Given the description of an element on the screen output the (x, y) to click on. 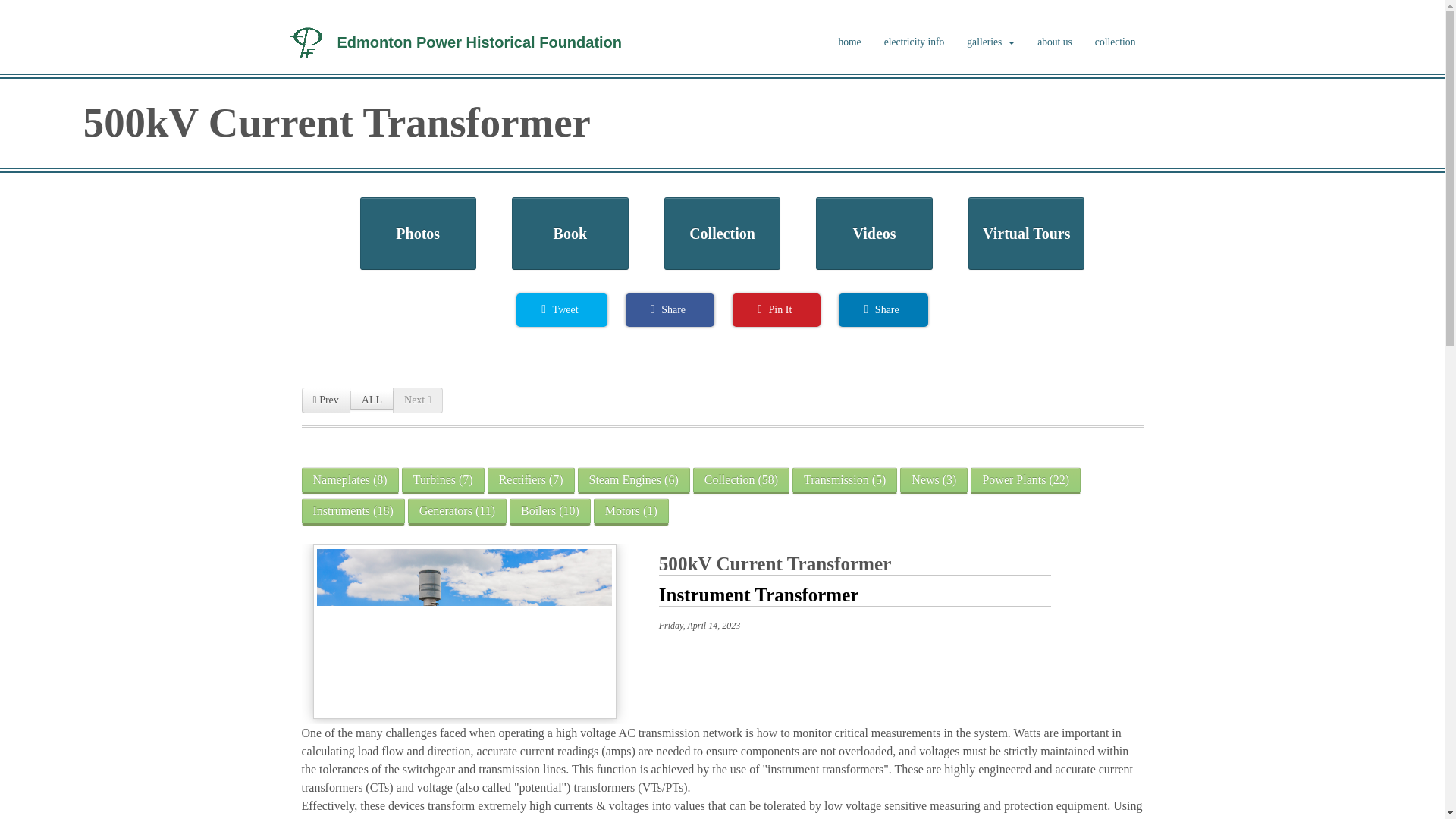
Pin It (776, 309)
Virtual Tours (1026, 233)
Share (670, 309)
about us (1054, 42)
collection (1115, 42)
Prev (325, 400)
Share (882, 309)
Tweet (561, 309)
Videos (873, 233)
Previous (325, 400)
